Given the description of an element on the screen output the (x, y) to click on. 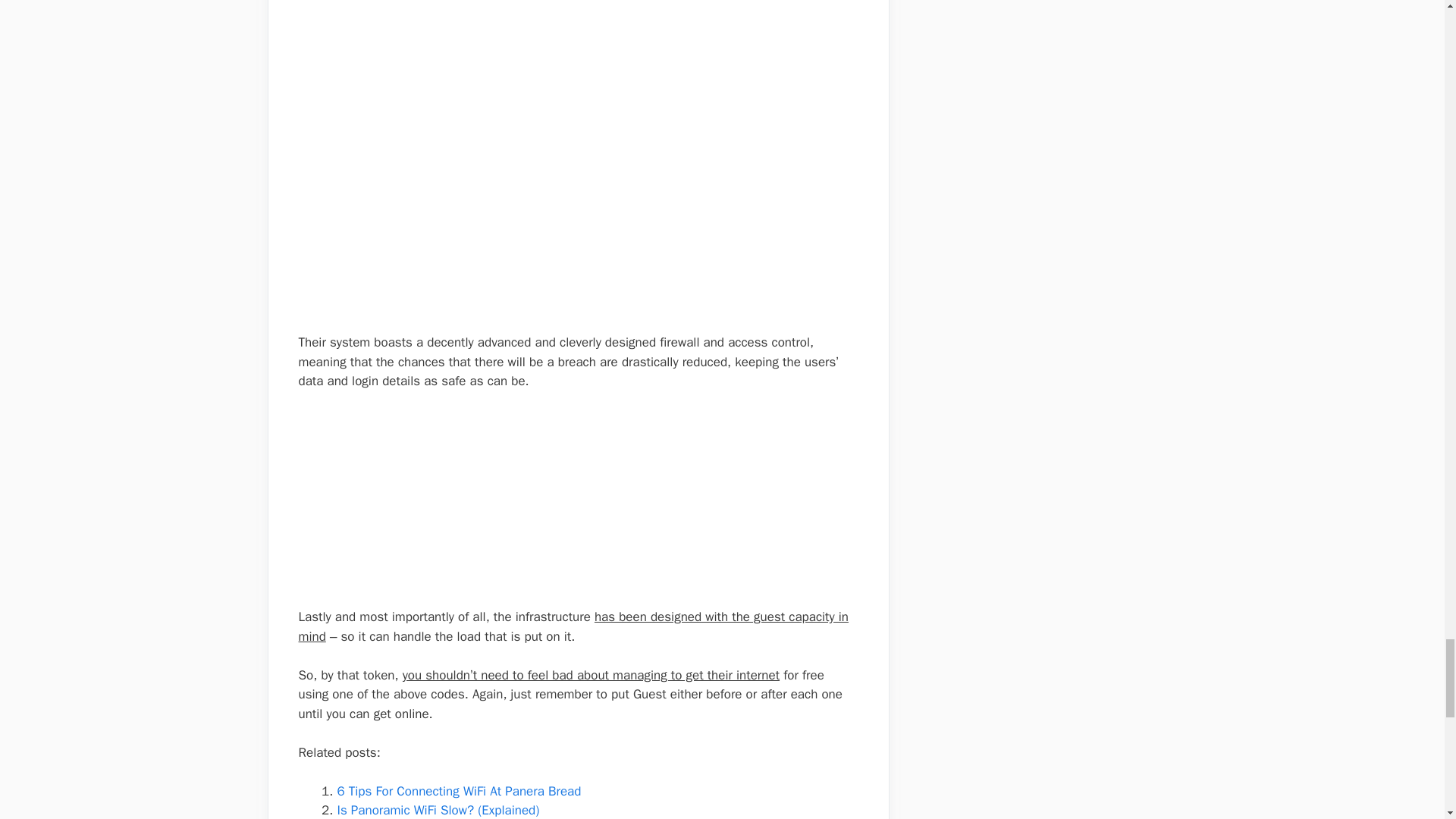
6 Tips For Connecting WiFi At Panera Bread (458, 790)
